Given the description of an element on the screen output the (x, y) to click on. 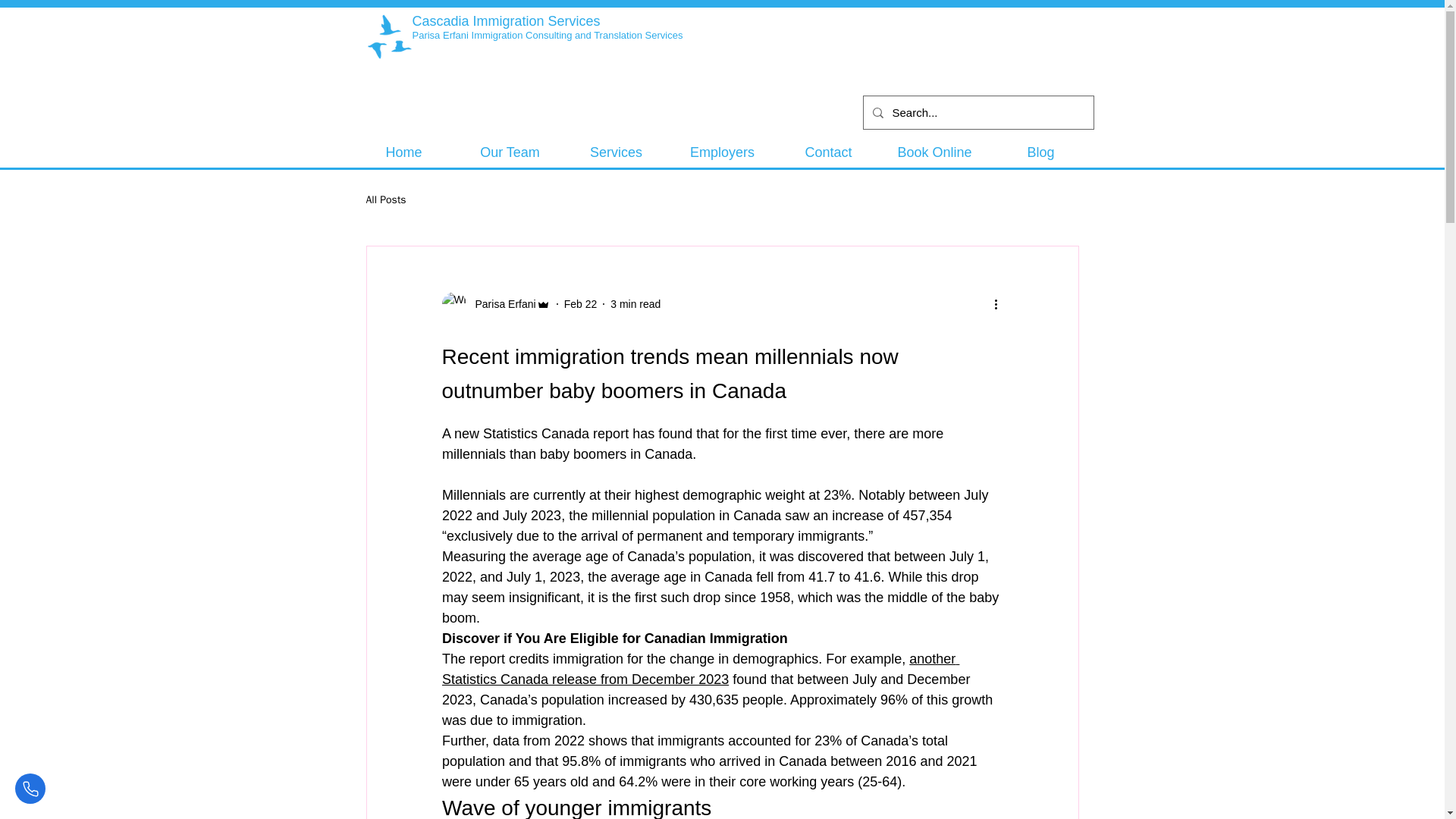
Book Online (933, 152)
Parisa Erfani (500, 303)
Blog (1040, 152)
Feb 22 (580, 303)
Discover if You Are Eligible for Canadian Immigration (614, 638)
3 min read (635, 303)
Cascadia Immigration Services (505, 20)
Our Team (509, 152)
Parisa Erfani (495, 303)
another Statistics Canada release from December 2023 (699, 669)
Contact (827, 152)
Home (403, 152)
Services (615, 152)
Employers (721, 152)
